Given the description of an element on the screen output the (x, y) to click on. 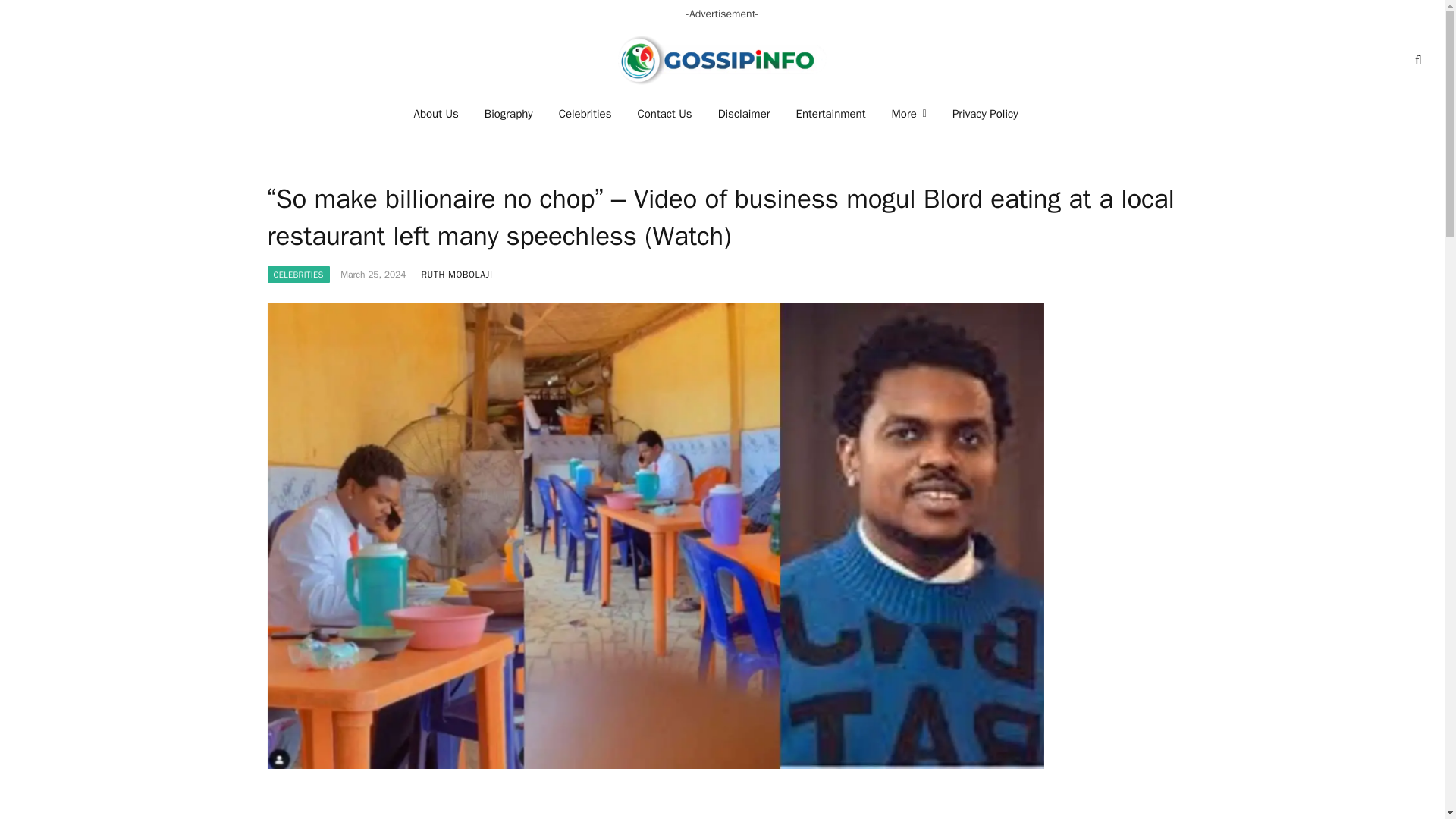
More (908, 113)
Biography (508, 113)
Gossipinfo (722, 59)
CELEBRITIES (297, 274)
Privacy Policy (984, 113)
Entertainment (831, 113)
Disclaimer (743, 113)
Celebrities (585, 113)
RUTH MOBOLAJI (457, 274)
Contact Us (664, 113)
